Given the description of an element on the screen output the (x, y) to click on. 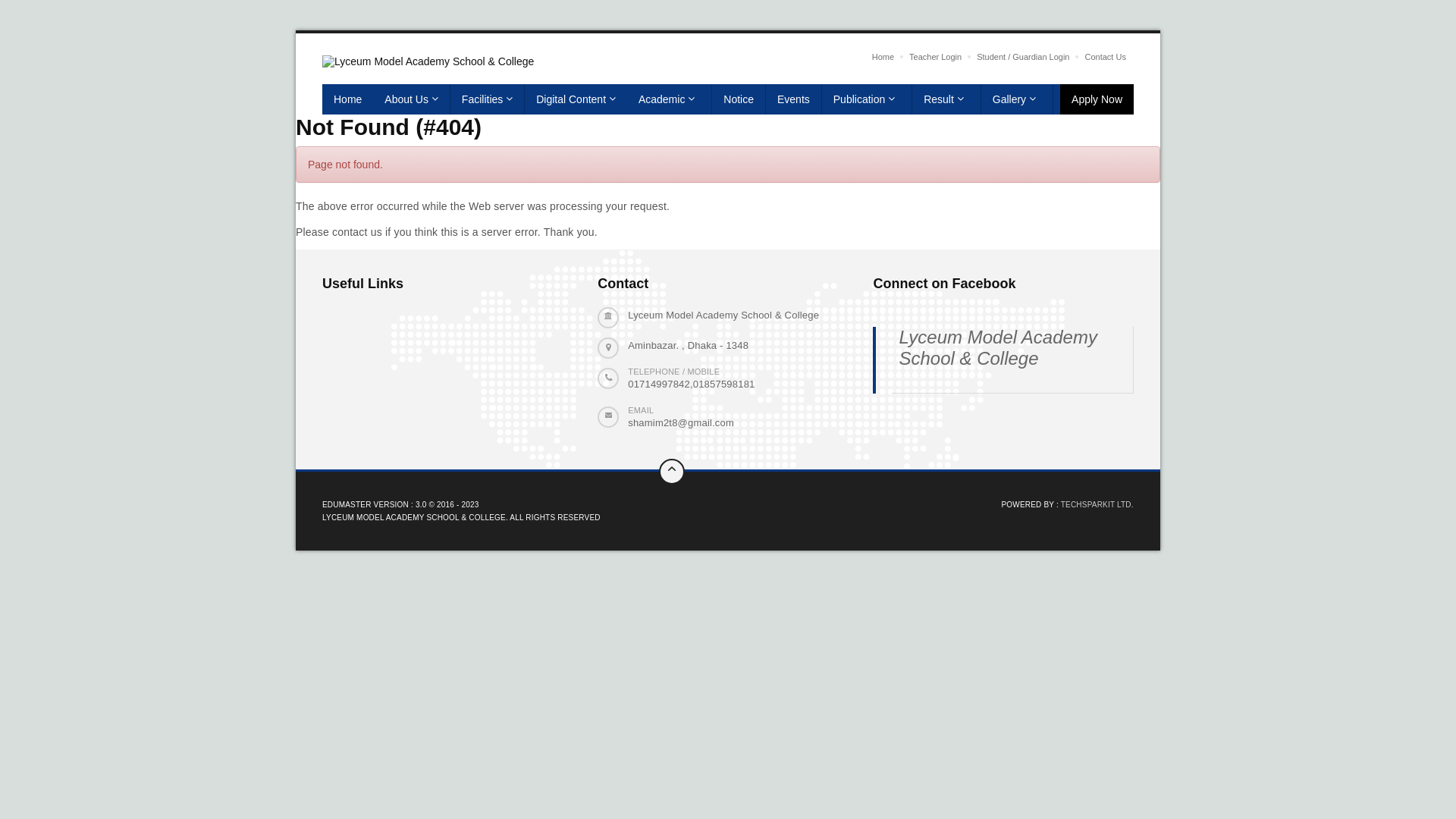
Apply Now Element type: text (1096, 99)
Academic Element type: text (669, 99)
About Us Element type: text (411, 99)
Events Element type: text (793, 99)
Student / Guardian Login Element type: text (1022, 56)
TECHSPARKIT LTD. Element type: text (1096, 504)
Contact Us Element type: text (1104, 56)
Teacher Login Element type: text (935, 56)
Notice Element type: text (738, 99)
Home Element type: text (882, 56)
Gallery Element type: text (1017, 99)
Digital Content Element type: text (575, 99)
Home Element type: text (347, 99)
Result Element type: text (946, 99)
Publication Element type: text (867, 99)
Facilities Element type: text (487, 99)
Lyceum Model Academy School & College Element type: text (997, 347)
shamim2t8@gmail.com Element type: text (680, 422)
